Given the description of an element on the screen output the (x, y) to click on. 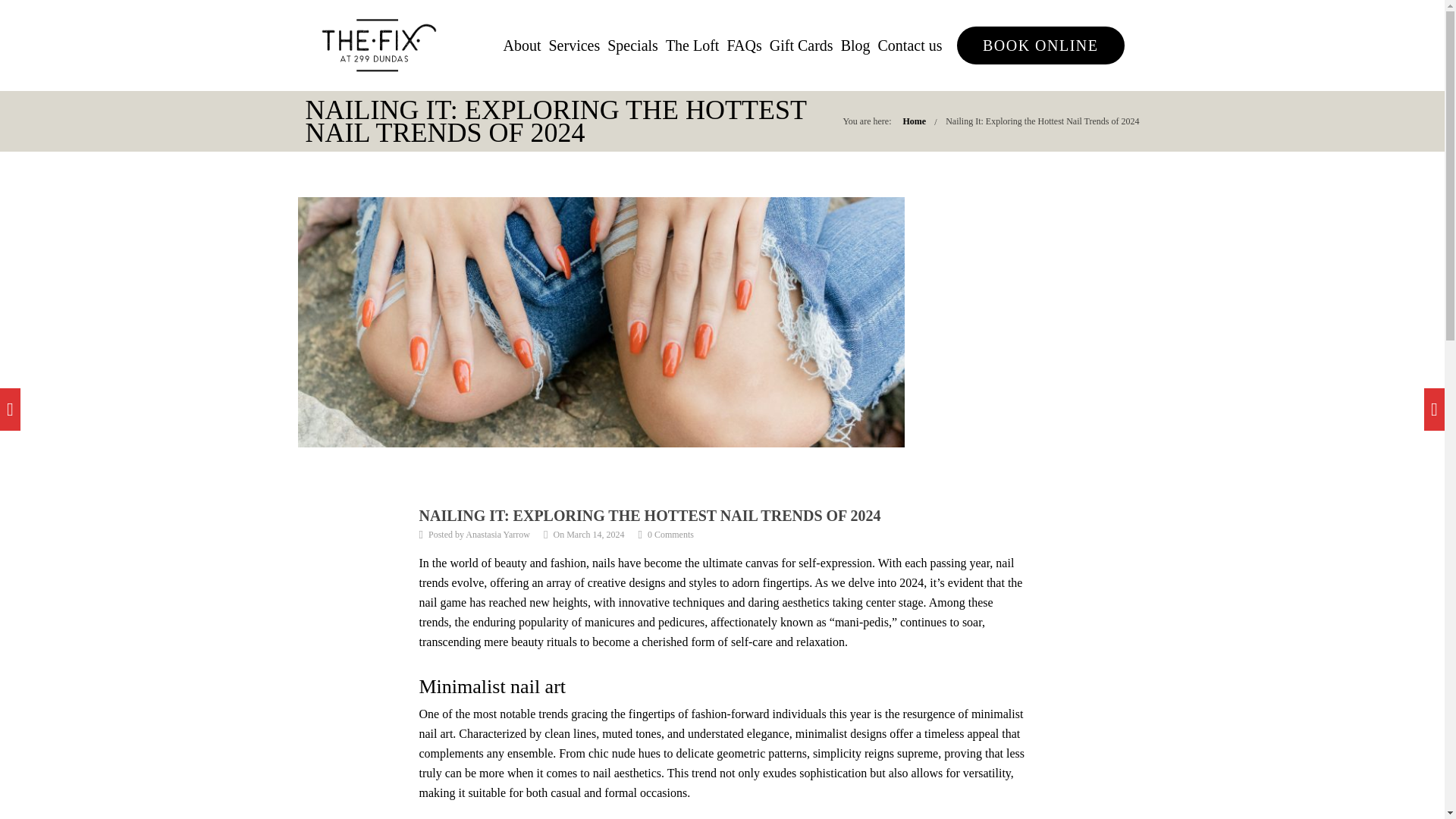
Services (573, 45)
Specials (632, 45)
Blog (855, 45)
Contact us (909, 45)
BOOK ONLINE (1040, 45)
FAQs (743, 45)
About (521, 45)
The Loft (692, 45)
Gift Cards (801, 45)
